Given the description of an element on the screen output the (x, y) to click on. 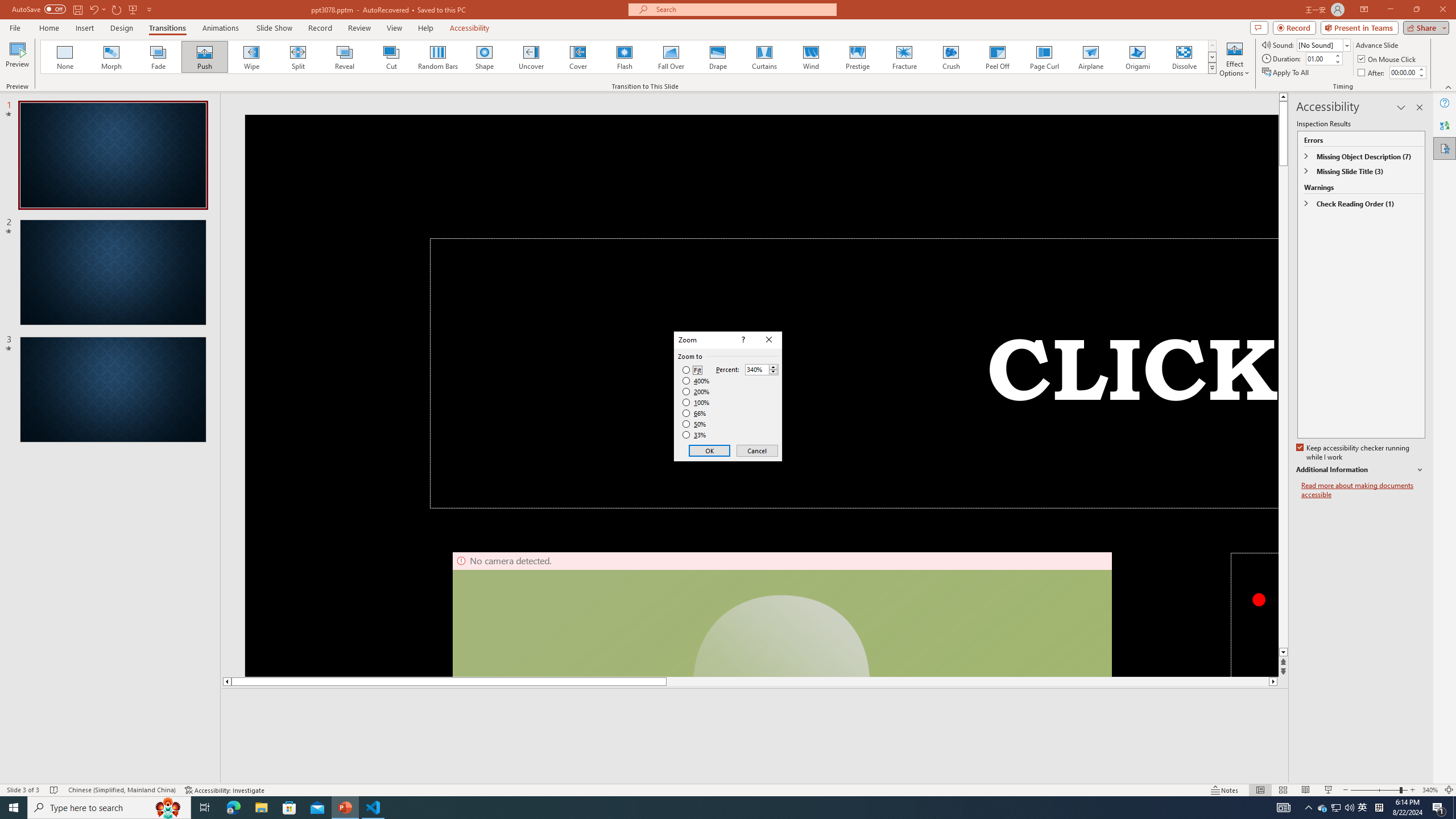
Peel Off (997, 56)
